Given the description of an element on the screen output the (x, y) to click on. 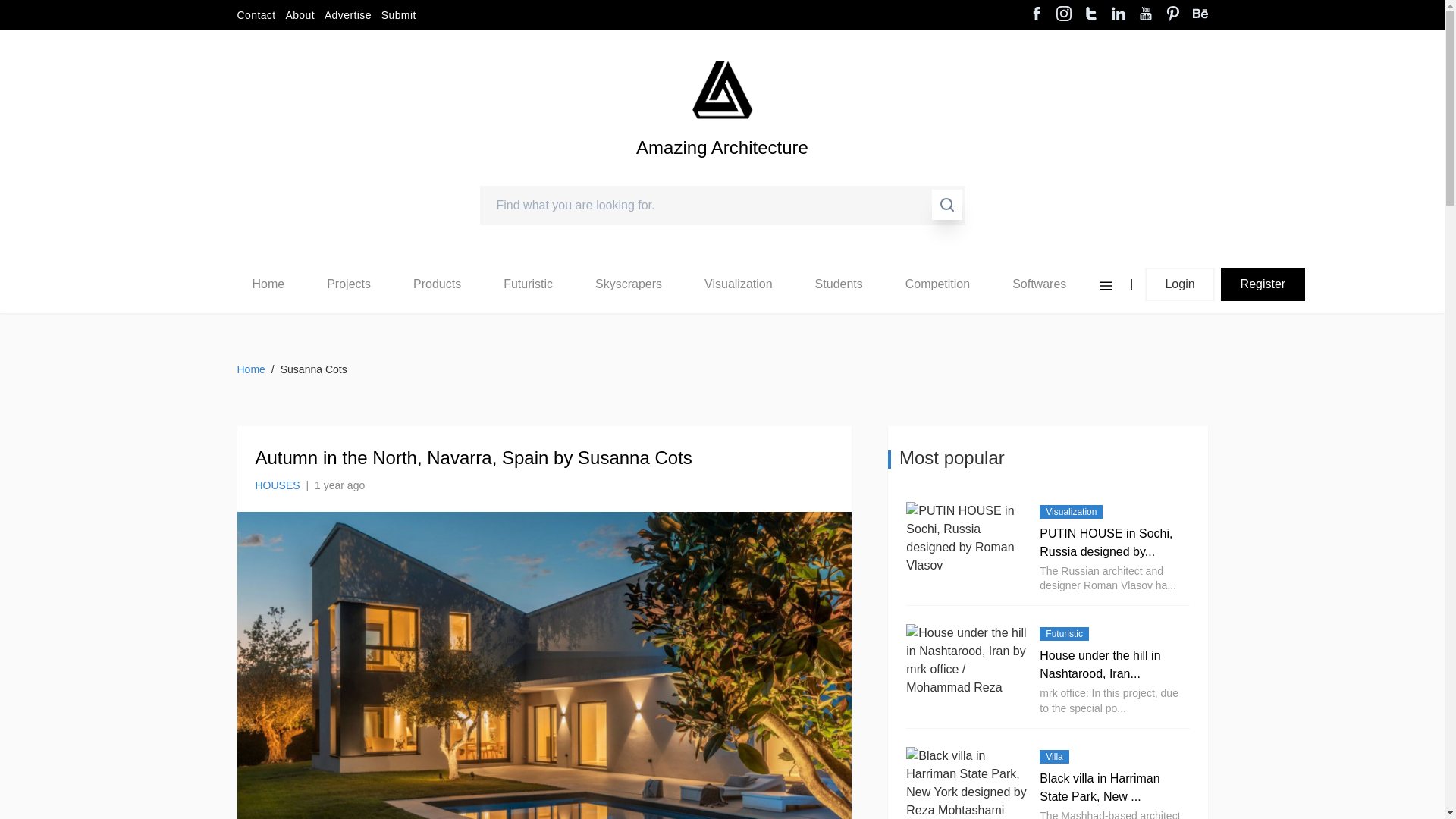
Projects (348, 283)
Submit page (398, 15)
Home (267, 284)
Skyscrapers (628, 283)
Contact (255, 15)
Home (267, 283)
Projects (348, 284)
Advertise (347, 15)
Products (437, 283)
Amazing Architecture (721, 88)
